Given the description of an element on the screen output the (x, y) to click on. 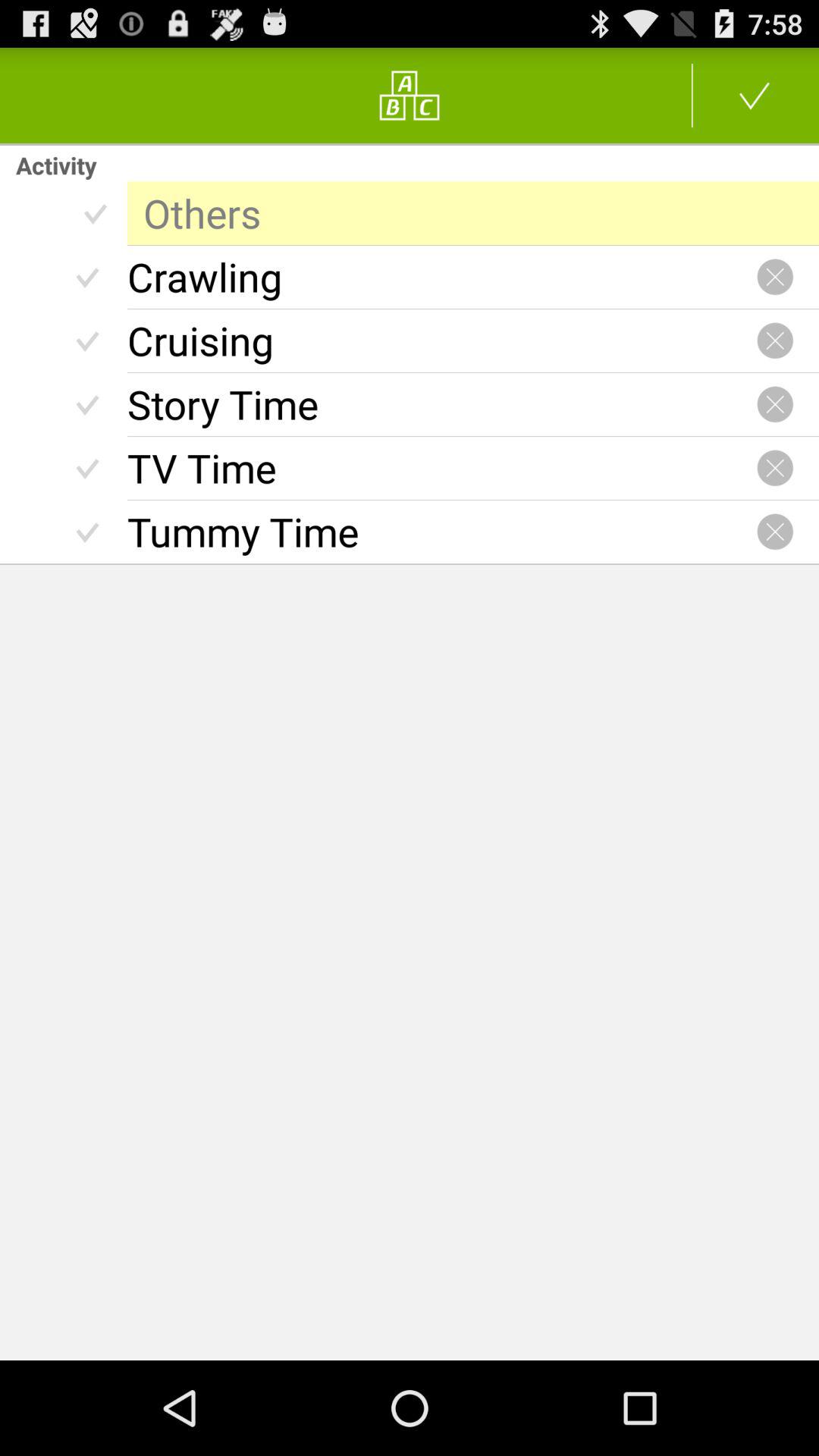
accept (755, 95)
